Given the description of an element on the screen output the (x, y) to click on. 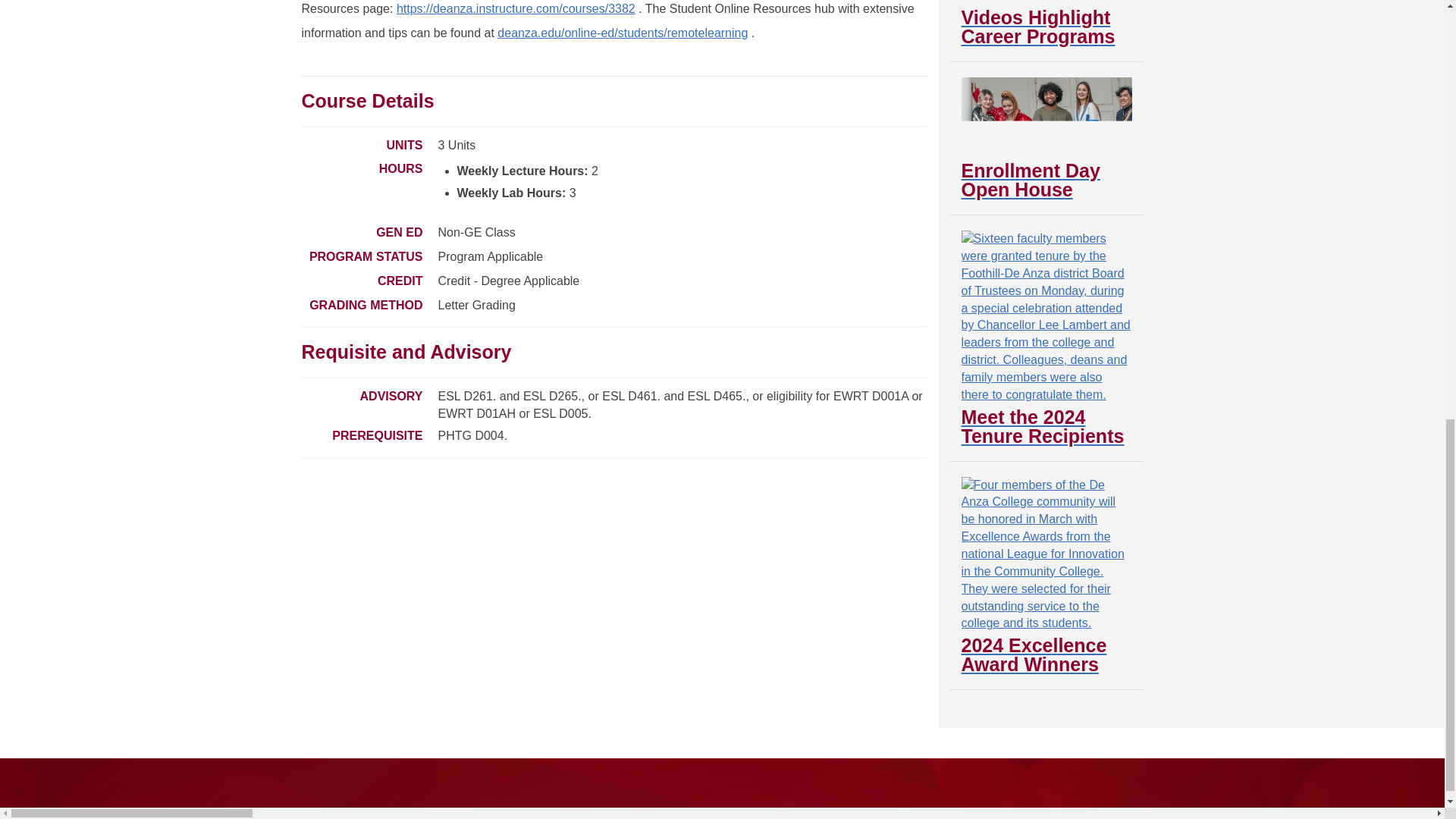
Enrollment Day Open House (1046, 137)
Videos Highlight Career Programs (1046, 22)
